Given the description of an element on the screen output the (x, y) to click on. 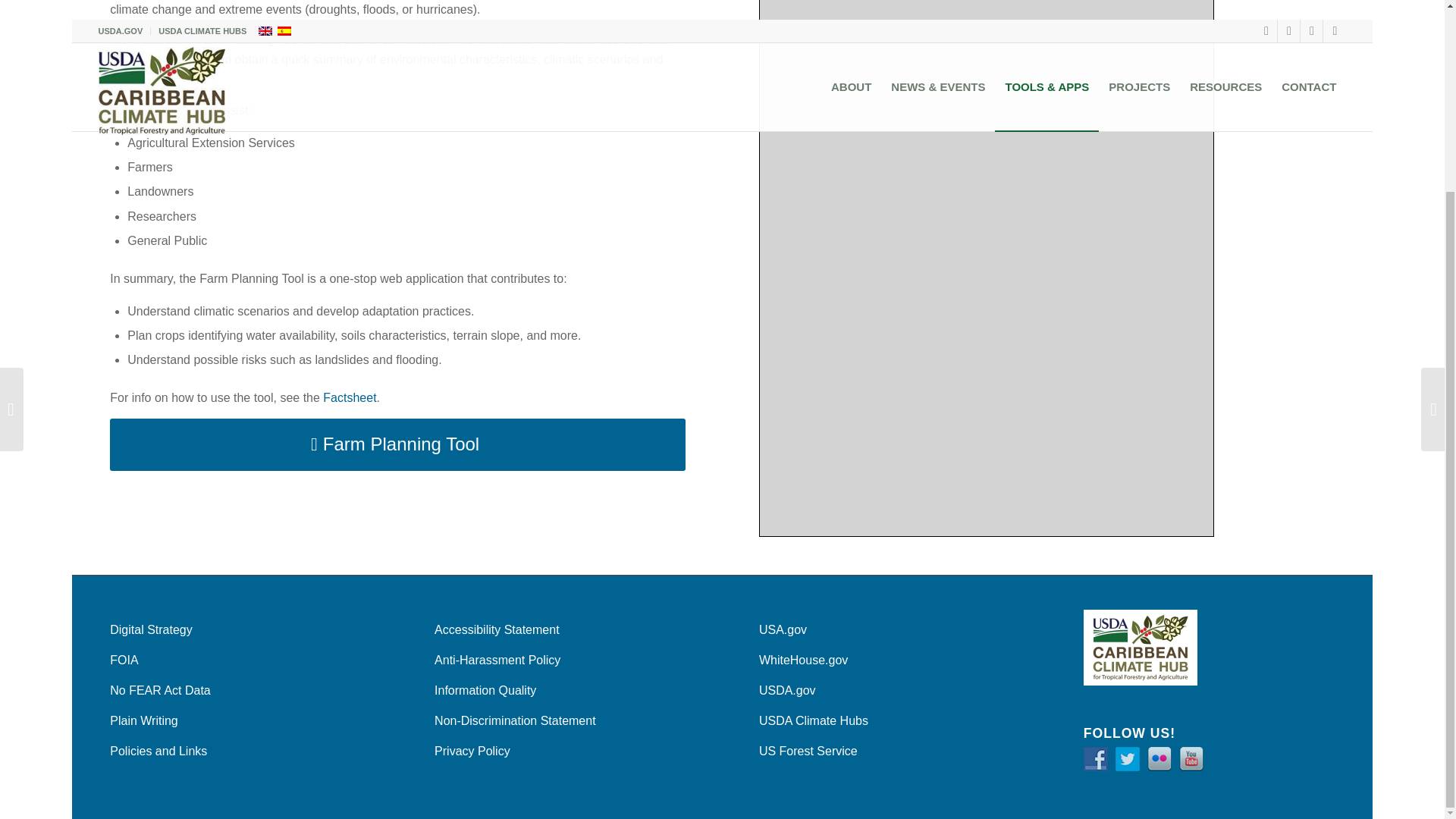
Follow Us on Twitter (1127, 758)
Follow Us on Facebook (1095, 758)
Follow Us on YouTube (1191, 758)
Follow Us on Flickr (1159, 758)
